Given the description of an element on the screen output the (x, y) to click on. 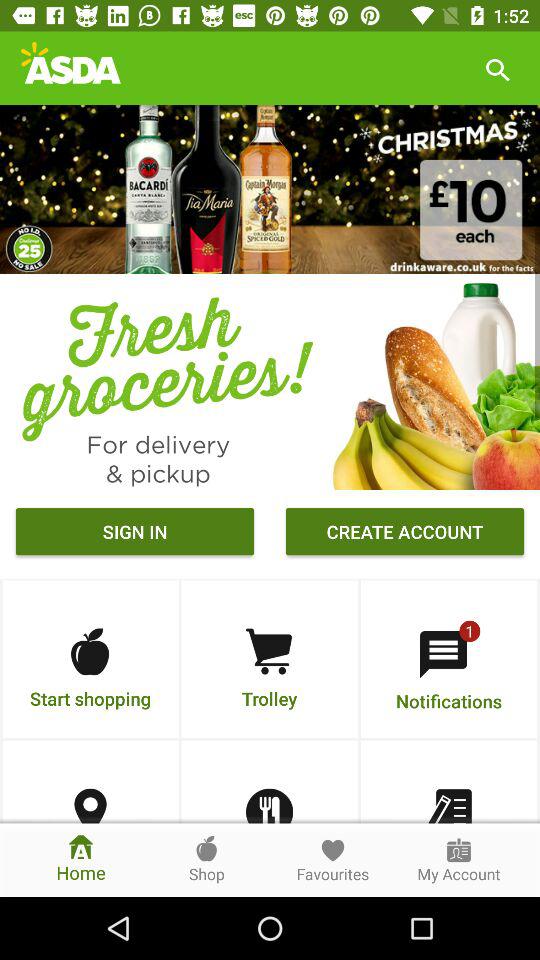
go to the icon below start shopping (89, 806)
select the button which is right to sign in button (404, 533)
click on the home icon which is at the bottom left corner (80, 859)
select the image which is to the immediate right of fresh groceries (432, 381)
